Given the description of an element on the screen output the (x, y) to click on. 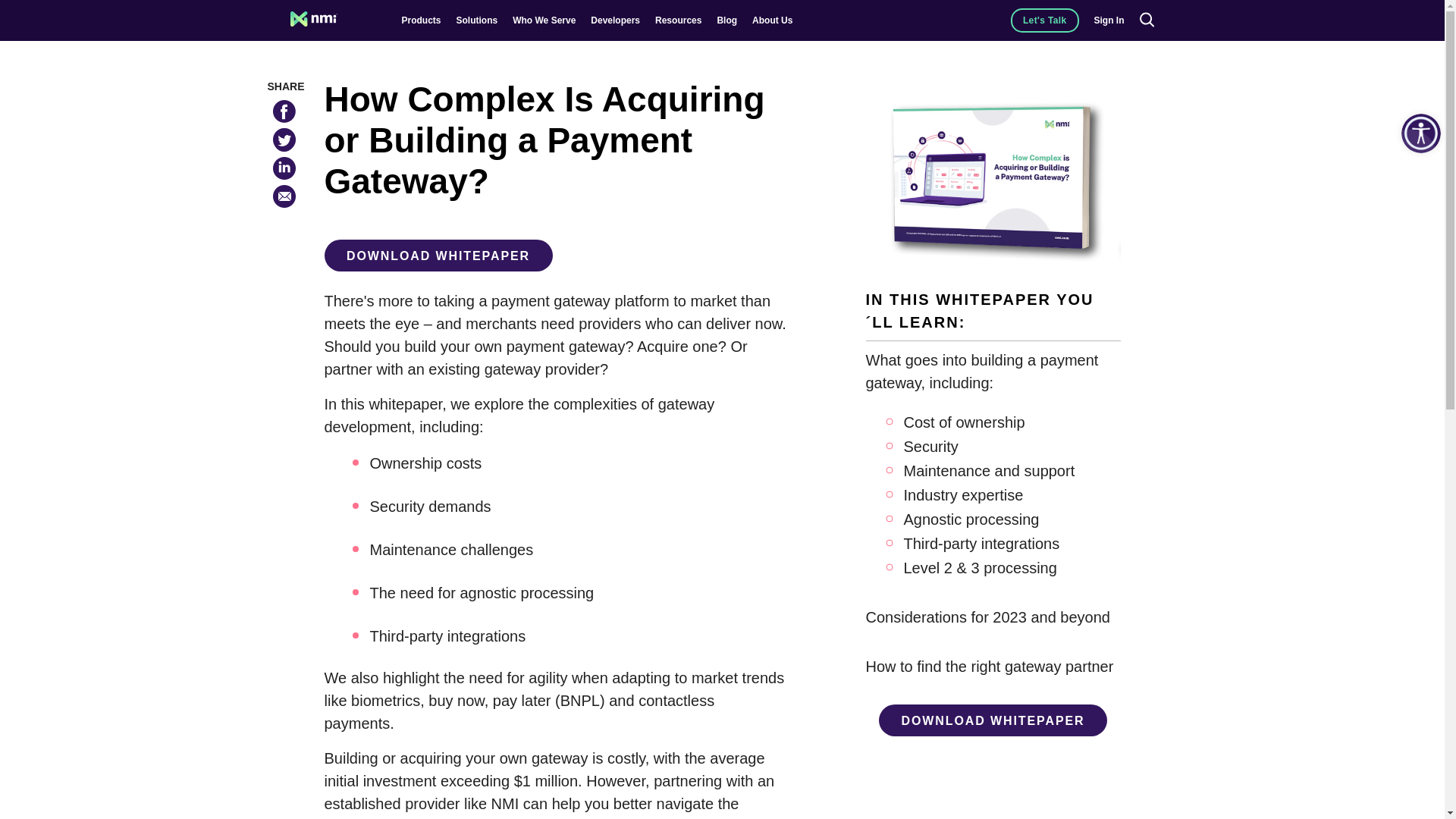
Accessibility Tools (1420, 133)
Products (421, 20)
Resources (678, 20)
Developers (615, 20)
Open toolbar (1420, 133)
Who We Serve (543, 20)
Solutions (477, 20)
